Given the description of an element on the screen output the (x, y) to click on. 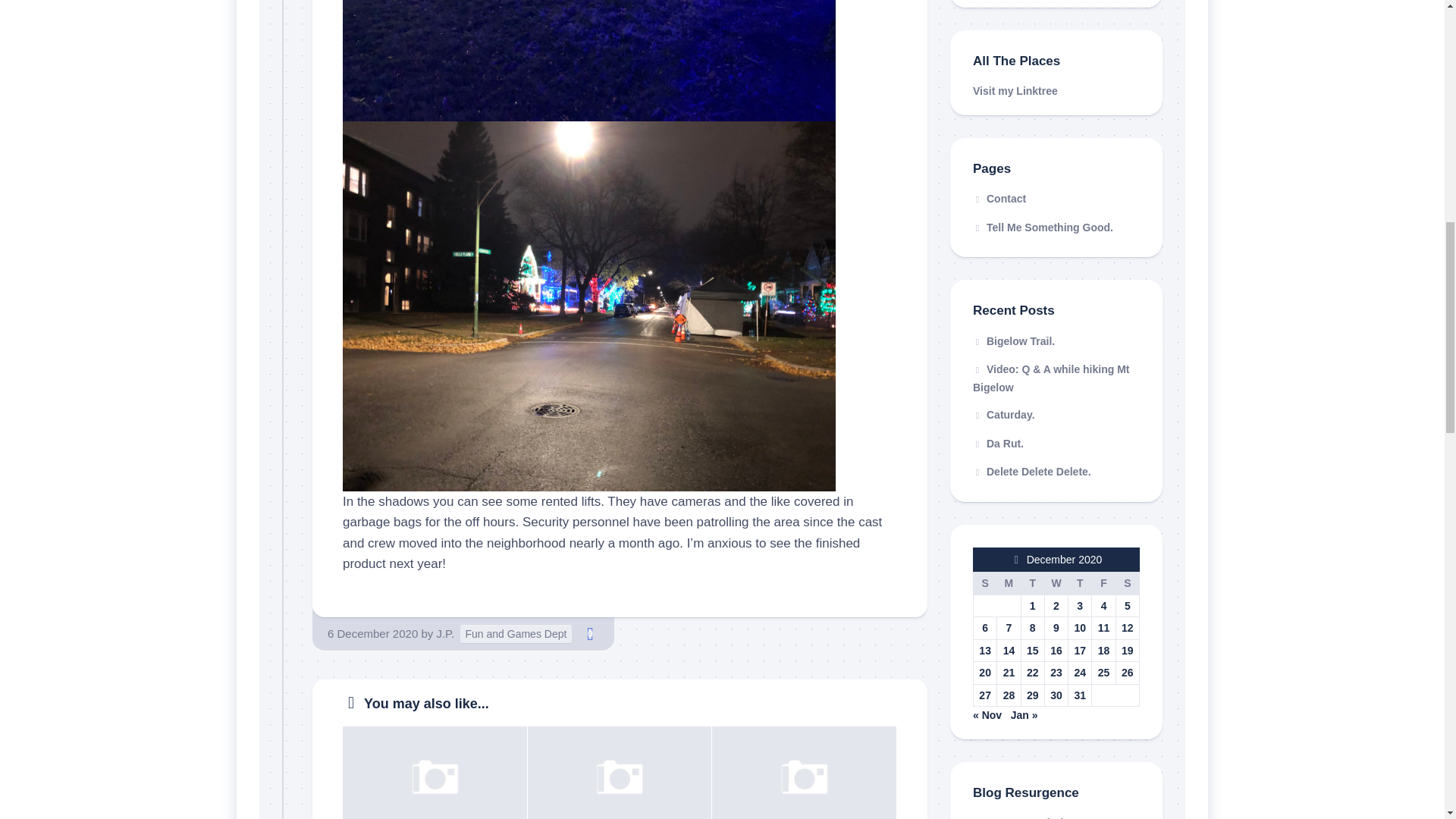
J.P. (444, 633)
Friday (1103, 582)
Caturday. (1003, 414)
Visit my Linktree (1015, 91)
Fun and Games Dept (516, 633)
Tell Me Something Good. (1056, 227)
Bigelow Trail. (1013, 340)
Da Rut. (997, 442)
Thursday (1080, 582)
Contact (1056, 199)
